Given the description of an element on the screen output the (x, y) to click on. 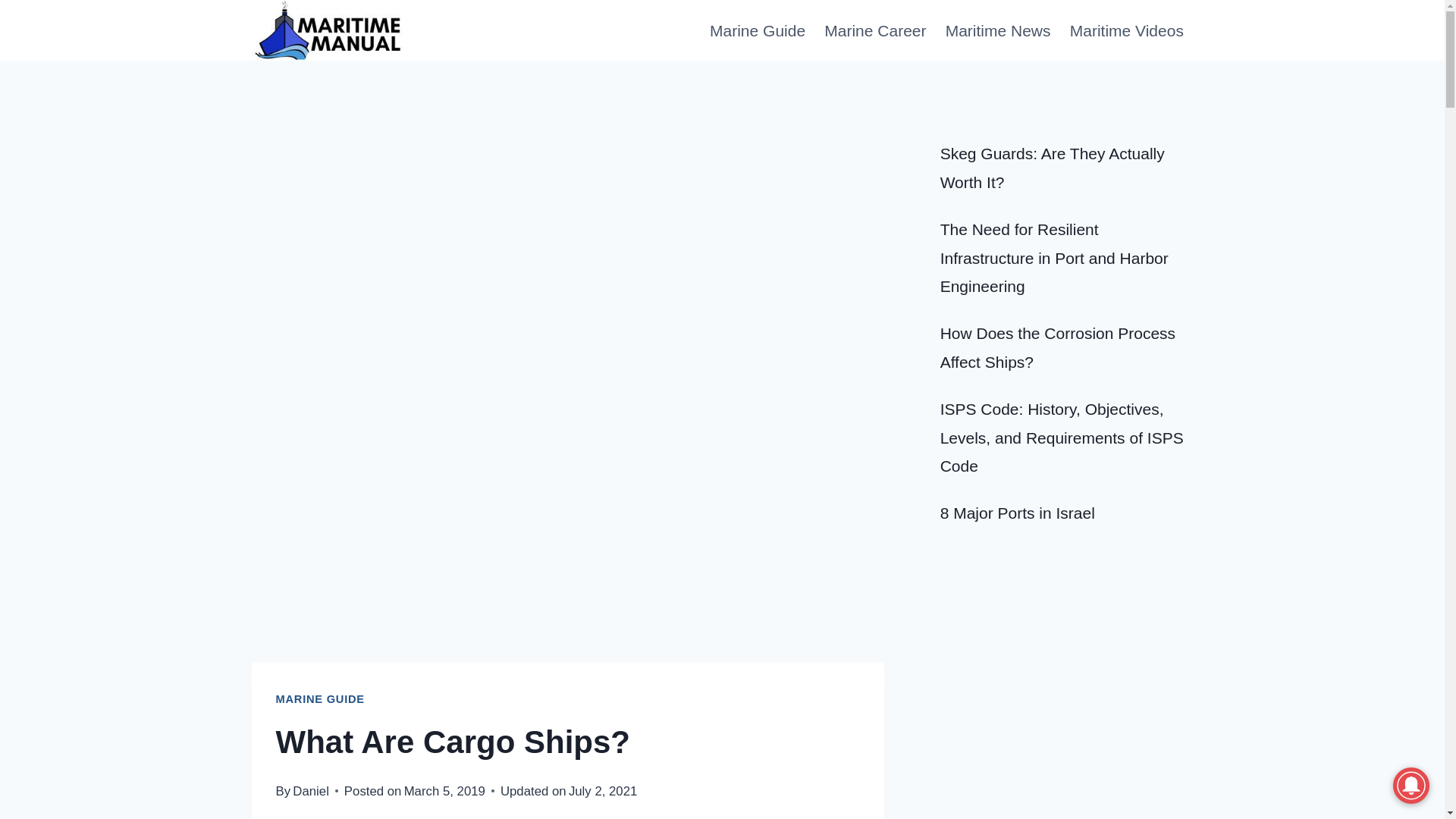
Maritime News (997, 30)
Marine Career (875, 30)
Maritime Videos (1125, 30)
MARINE GUIDE (320, 698)
Marine Guide (756, 30)
